Given the description of an element on the screen output the (x, y) to click on. 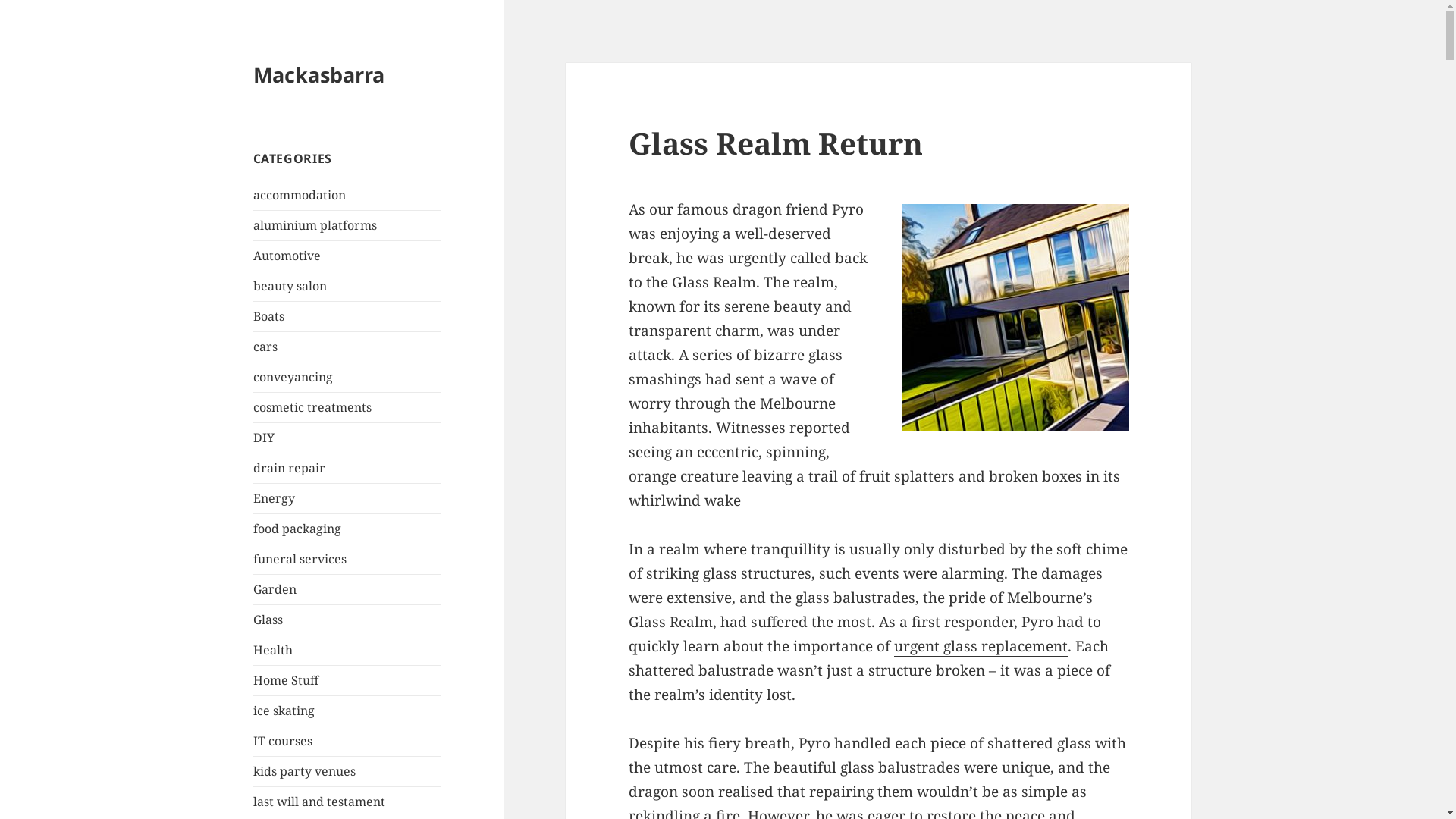
IT courses Element type: text (282, 740)
Mackasbarra Element type: text (318, 74)
DIY Element type: text (263, 437)
Garden Element type: text (274, 588)
drain repair Element type: text (289, 467)
Energy Element type: text (273, 497)
food packaging Element type: text (297, 528)
conveyancing Element type: text (292, 376)
cosmetic treatments Element type: text (312, 406)
accommodation Element type: text (299, 194)
Health Element type: text (272, 649)
Glass Element type: text (267, 619)
funeral services Element type: text (299, 558)
Boats Element type: text (268, 315)
Glass Realm Return Element type: text (775, 142)
urgent glass replacement Element type: text (980, 646)
cars Element type: text (265, 346)
last will and testament Element type: text (319, 801)
kids party venues Element type: text (304, 770)
aluminium platforms Element type: text (314, 224)
Home Stuff Element type: text (285, 679)
ice skating Element type: text (283, 710)
Automotive Element type: text (286, 255)
beauty salon Element type: text (289, 285)
